Given the description of an element on the screen output the (x, y) to click on. 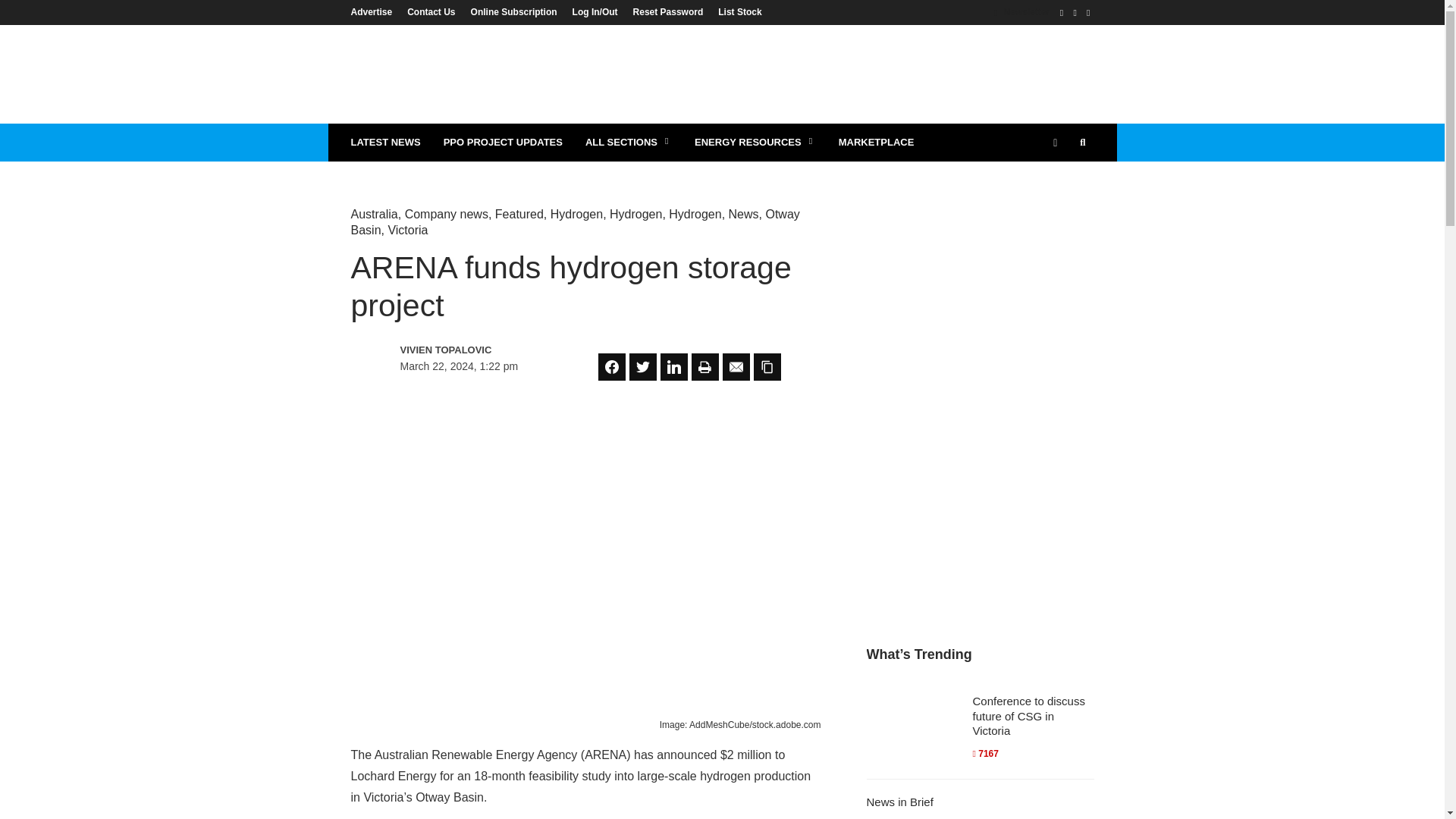
Online Subscription (513, 11)
List Stock (735, 11)
Share on Email (735, 366)
Share on Facebook (612, 366)
PPO PROJECT UPDATES (502, 142)
Contact Us (430, 11)
View all posts by Vivien Topalovic (465, 349)
LATEST NEWS (385, 142)
ALL SECTIONS (627, 142)
Newsletter (1021, 11)
